Given the description of an element on the screen output the (x, y) to click on. 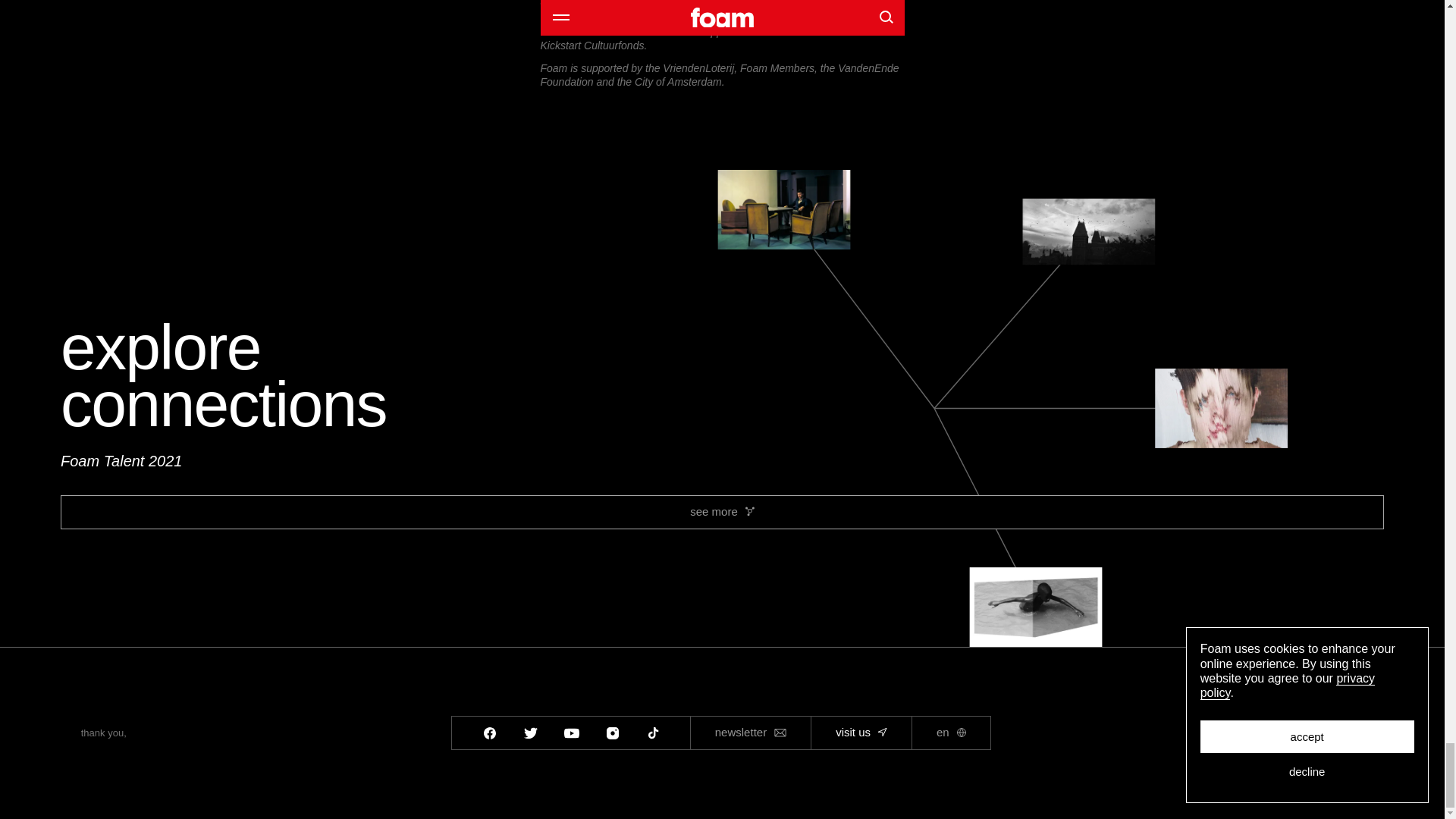
en (951, 732)
see more (722, 512)
newsletter (750, 732)
